Given the description of an element on the screen output the (x, y) to click on. 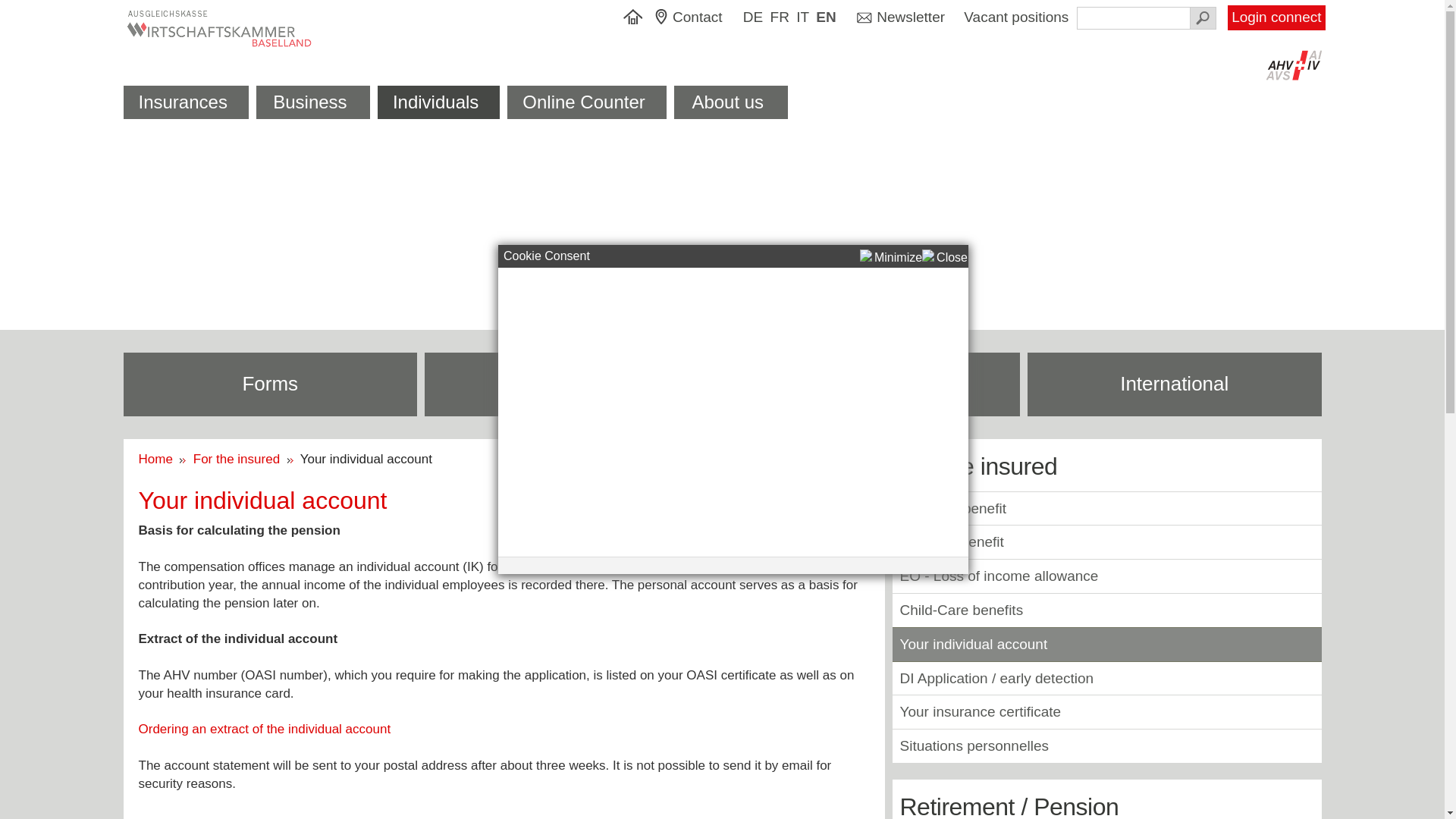
Paternity benefit Element type: text (951, 541)
Vacant positions Element type: text (1017, 17)
International Element type: text (1174, 384)
FR Element type: text (779, 17)
Individuals Element type: text (438, 102)
DI Application / early detection Element type: text (996, 678)
Child-Care benefits Element type: text (960, 610)
Minimize Element type: hover (890, 257)
Contact Element type: text (695, 17)
About us Element type: text (730, 102)
Leaflets Element type: text (571, 384)
IT Element type: text (802, 17)
EO - Loss of income allowance Element type: text (998, 575)
Login connect Element type: text (1275, 17)
Business Element type: text (313, 102)
Maternity benefit Element type: text (952, 508)
Ordering an extract of the individual account Element type: text (264, 728)
DE Element type: text (752, 17)
Forms Element type: text (269, 384)
Home  Element type: text (158, 458)
Situations personnelles Element type: text (973, 745)
search Element type: hover (1202, 17)
Online Counter Element type: text (586, 102)
 For the insured  Element type: text (238, 458)
Close Element type: hover (944, 257)
Life situations Element type: text (873, 384)
Newsletter Element type: text (900, 17)
Your insurance certificate Element type: text (979, 711)
Insurances Element type: text (184, 102)
